Given the description of an element on the screen output the (x, y) to click on. 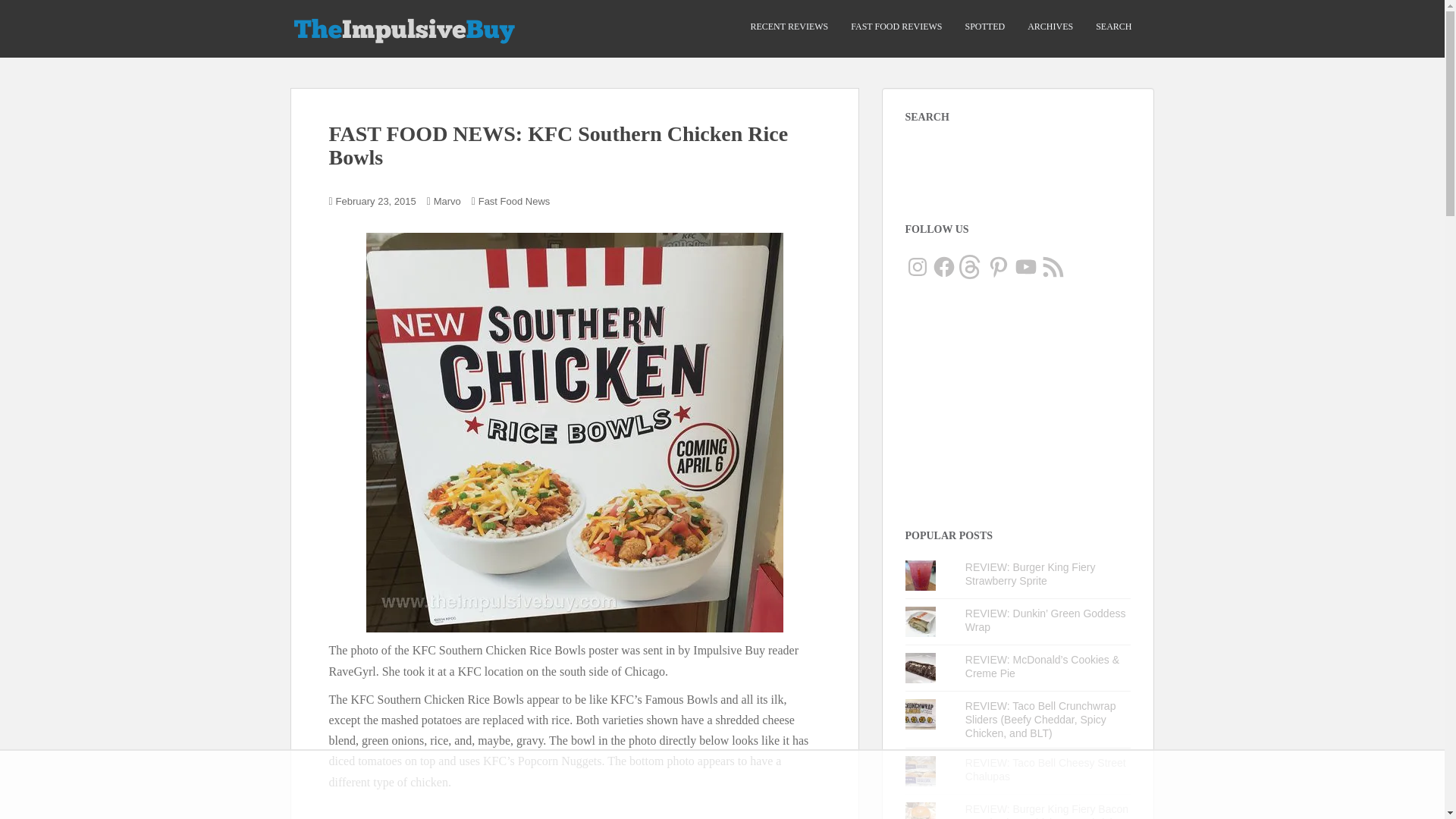
Marvo (447, 201)
RECENT REVIEWS (788, 26)
Threads (971, 266)
REVIEW: Burger King Fiery Strawberry Sprite (1030, 574)
February 23, 2015 (376, 201)
SEARCH (1113, 26)
Instagram (917, 266)
YouTube (1025, 266)
Fast Food News (514, 201)
RSS Feed (1053, 266)
SPOTTED (983, 26)
Pinterest (998, 266)
FAST FOOD REVIEWS (896, 26)
Facebook (943, 266)
